Given the description of an element on the screen output the (x, y) to click on. 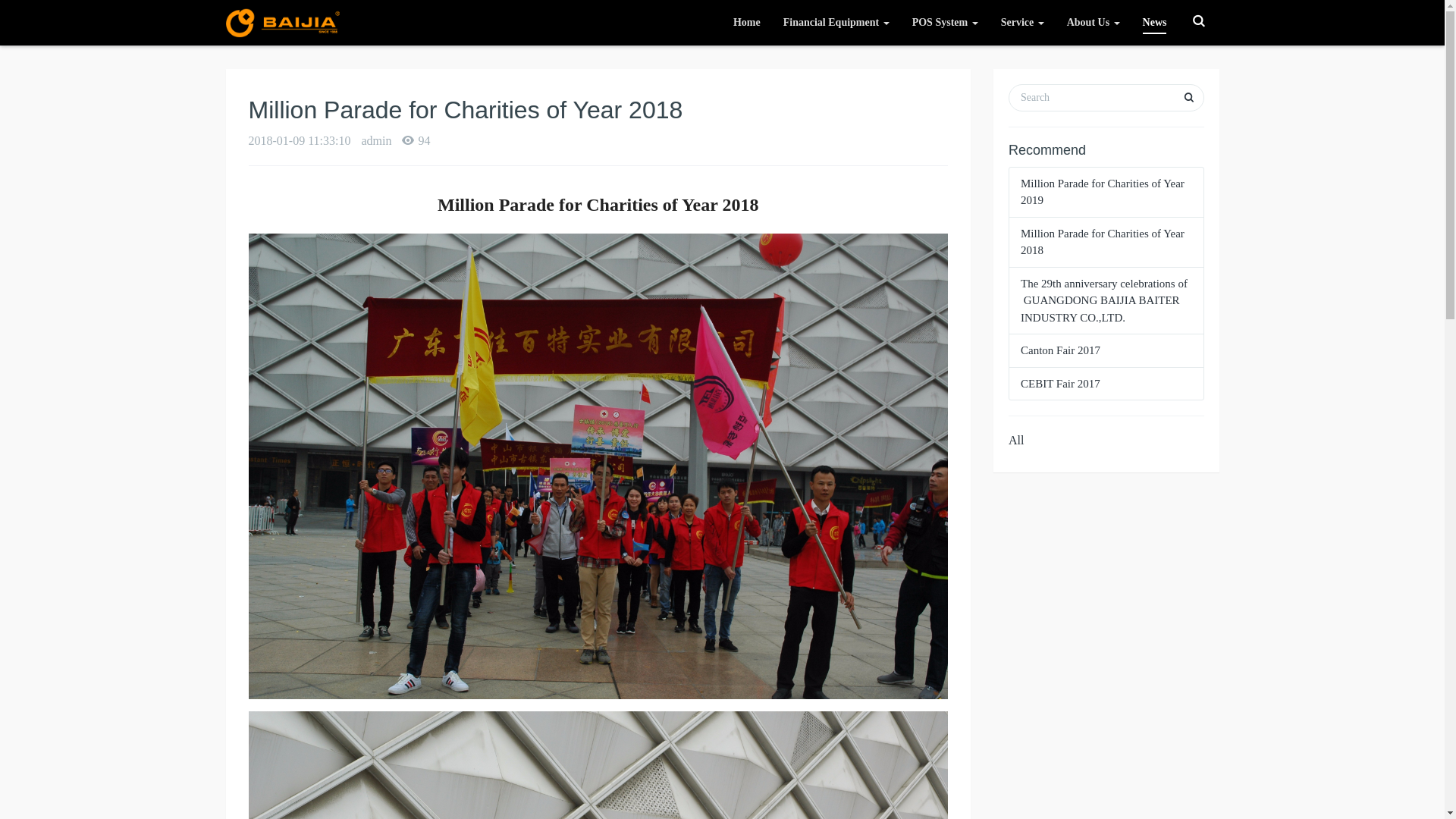
Financial Equipment Element type: text (835, 22)
Million Parade for Charities of Year 2019 Element type: text (1102, 192)
Million Parade for Charities of Year 2018 Element type: text (1102, 242)
1515468838629499.jpg Element type: hover (598, 465)
GUANGDONG BAIJIA BAITER INDUSTRY CO.,LTD. Element type: hover (282, 22)
POS System Element type: text (944, 22)
Canton Fair 2017 Element type: text (1060, 350)
All Element type: text (1015, 439)
GUANGDONG BAIJIA BAITER INDUSTRY CO.,LTD. Element type: hover (282, 22)
News Element type: text (1154, 22)
Toggle Search Element type: text (1198, 20)
Service Element type: text (1022, 22)
Home Element type: text (746, 22)
About Us Element type: text (1093, 22)
CEBIT Fair 2017 Element type: text (1060, 383)
